Given the description of an element on the screen output the (x, y) to click on. 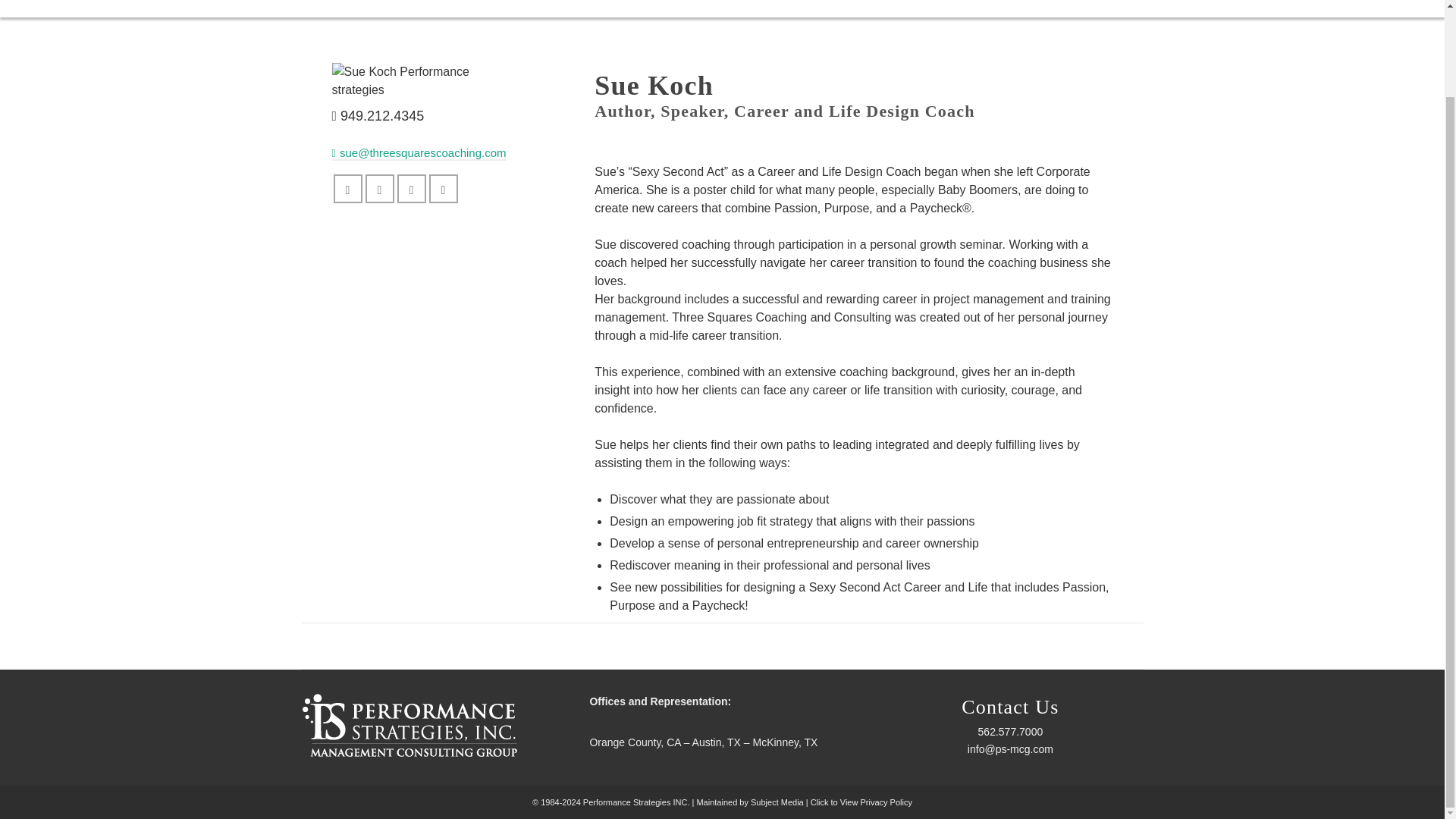
562.577.7000 (1009, 731)
Sue-Koch-Performance-strategies (421, 81)
Click to View Privacy Policy (861, 801)
